Given the description of an element on the screen output the (x, y) to click on. 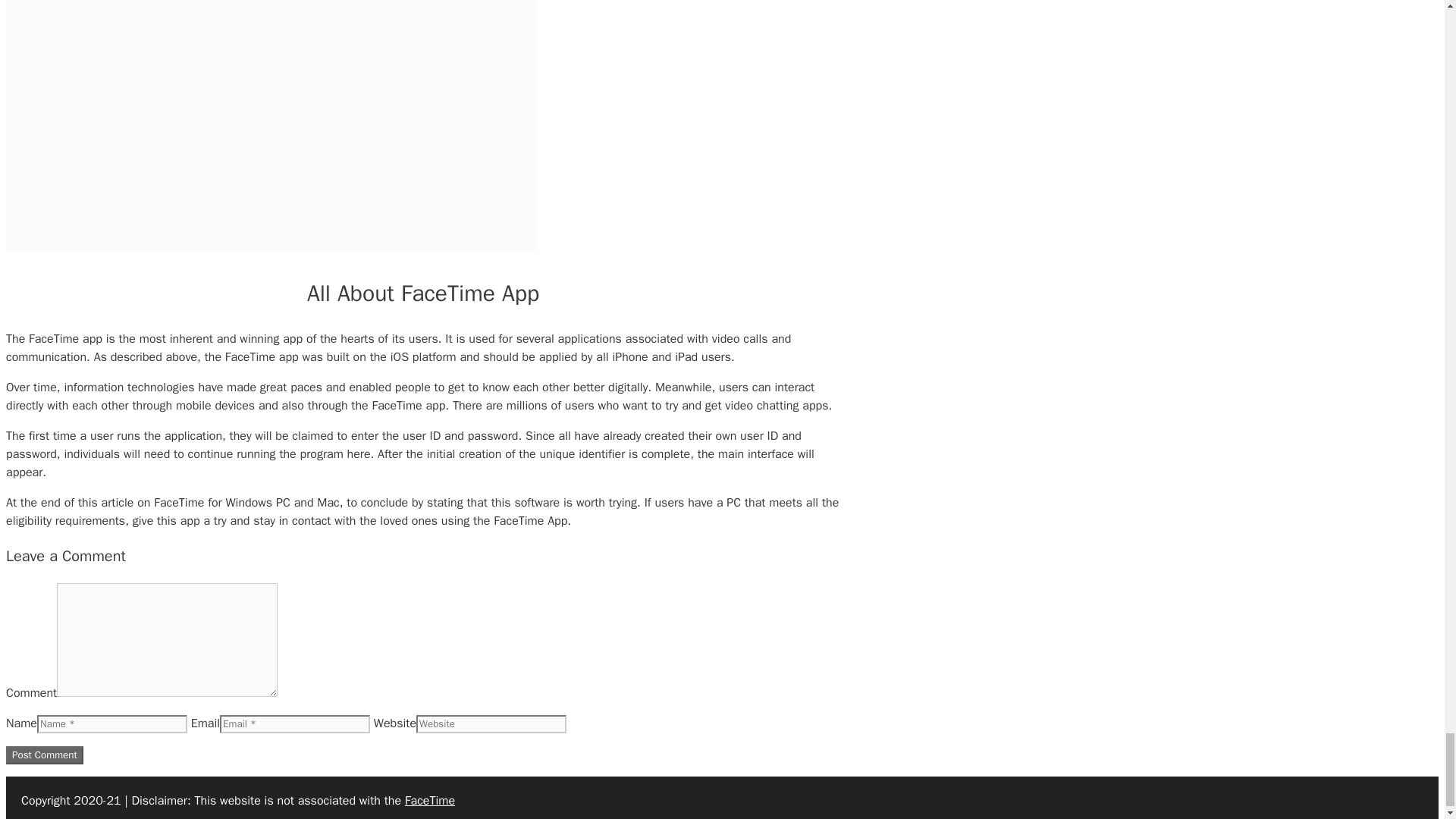
Post Comment (43, 755)
Post Comment (43, 755)
FaceTime (429, 800)
